Given the description of an element on the screen output the (x, y) to click on. 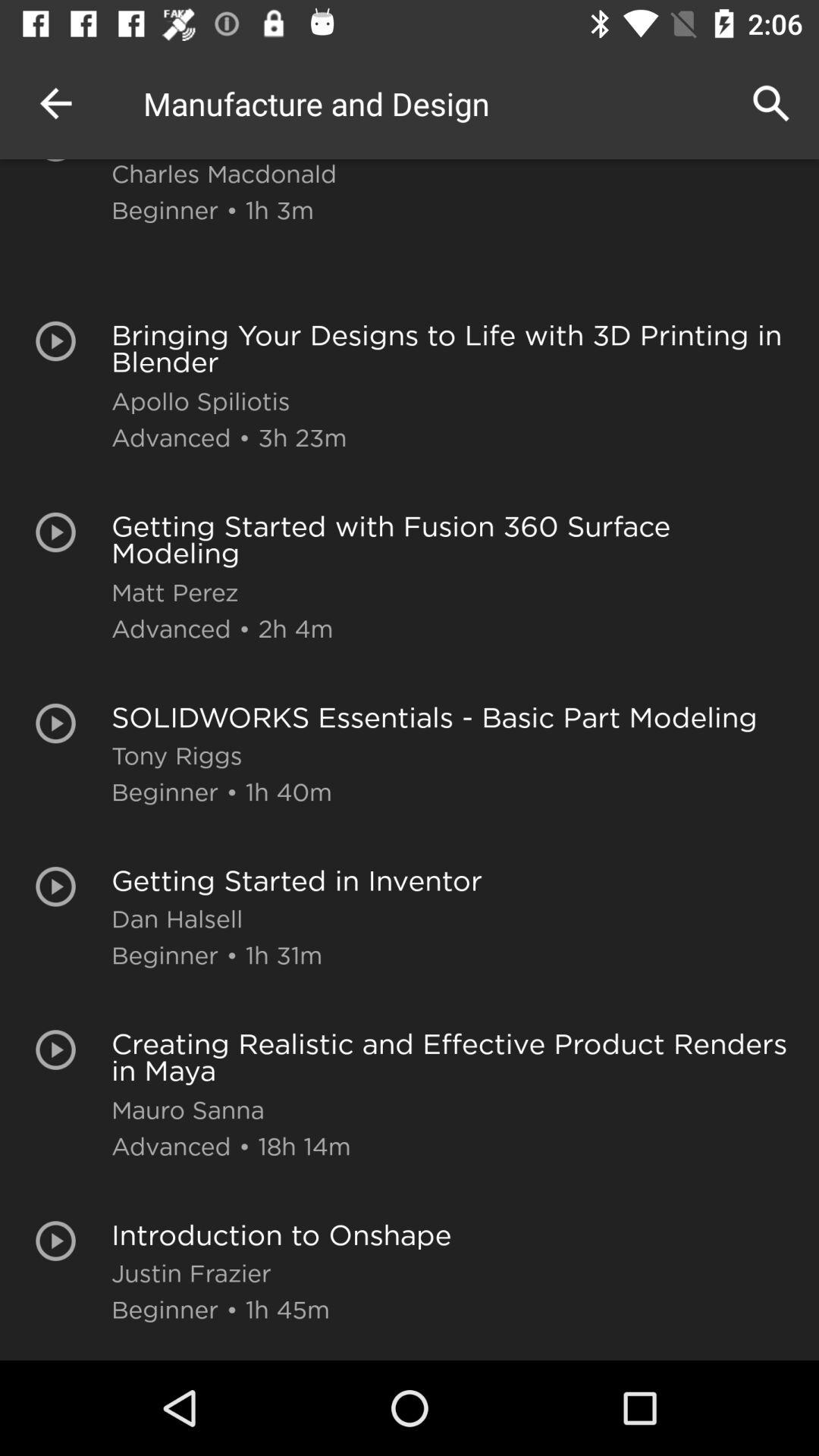
tap the icon at the top right corner (771, 103)
